Given the description of an element on the screen output the (x, y) to click on. 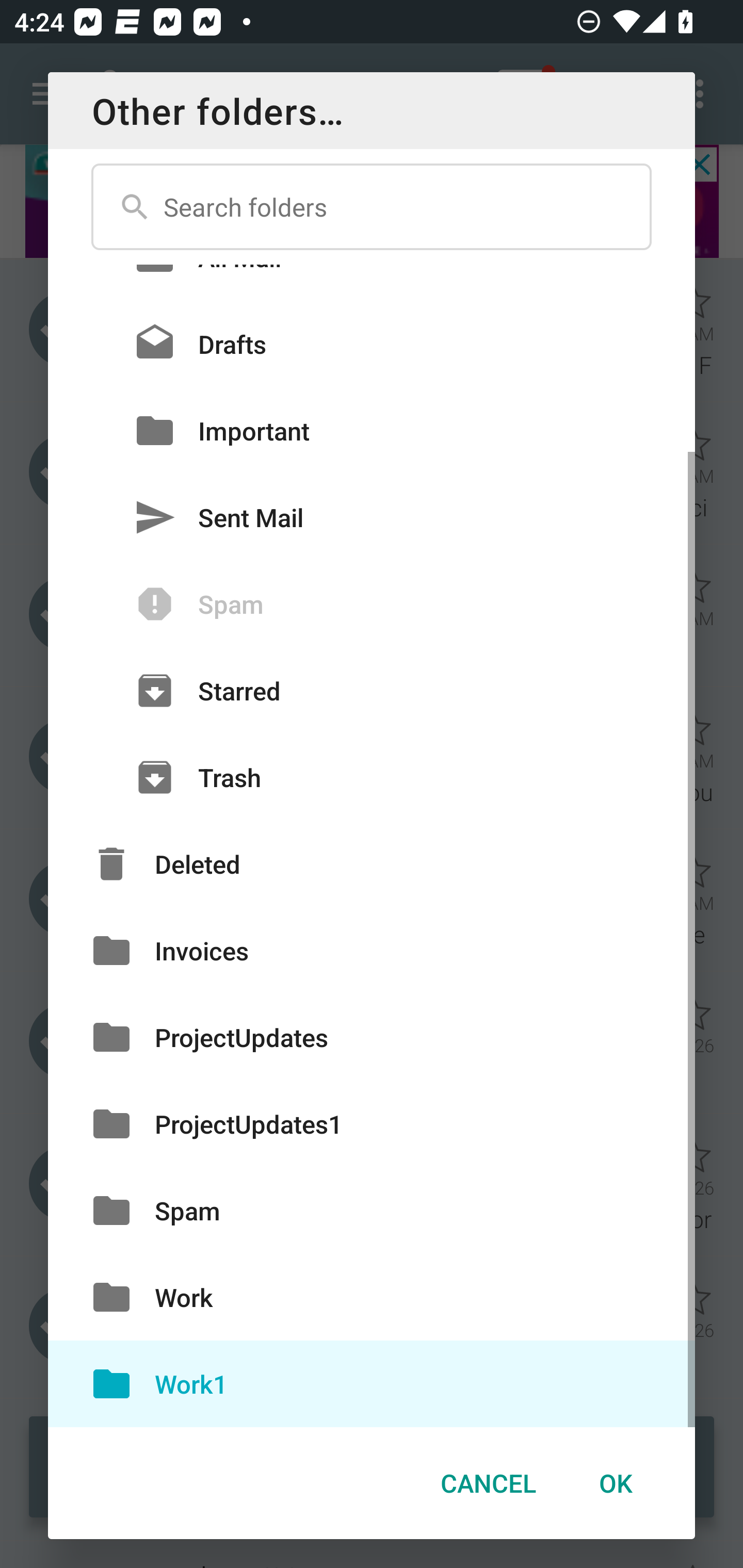
Drafts (371, 344)
Important (371, 430)
Sent Mail (371, 517)
Starred (371, 690)
Trash (371, 776)
Deleted (371, 863)
Invoices (371, 950)
ProjectUpdates (371, 1037)
ProjectUpdates1 (371, 1123)
Spam (371, 1210)
Work (371, 1297)
Work1 (371, 1383)
CANCEL (488, 1482)
OK (615, 1482)
